Given the description of an element on the screen output the (x, y) to click on. 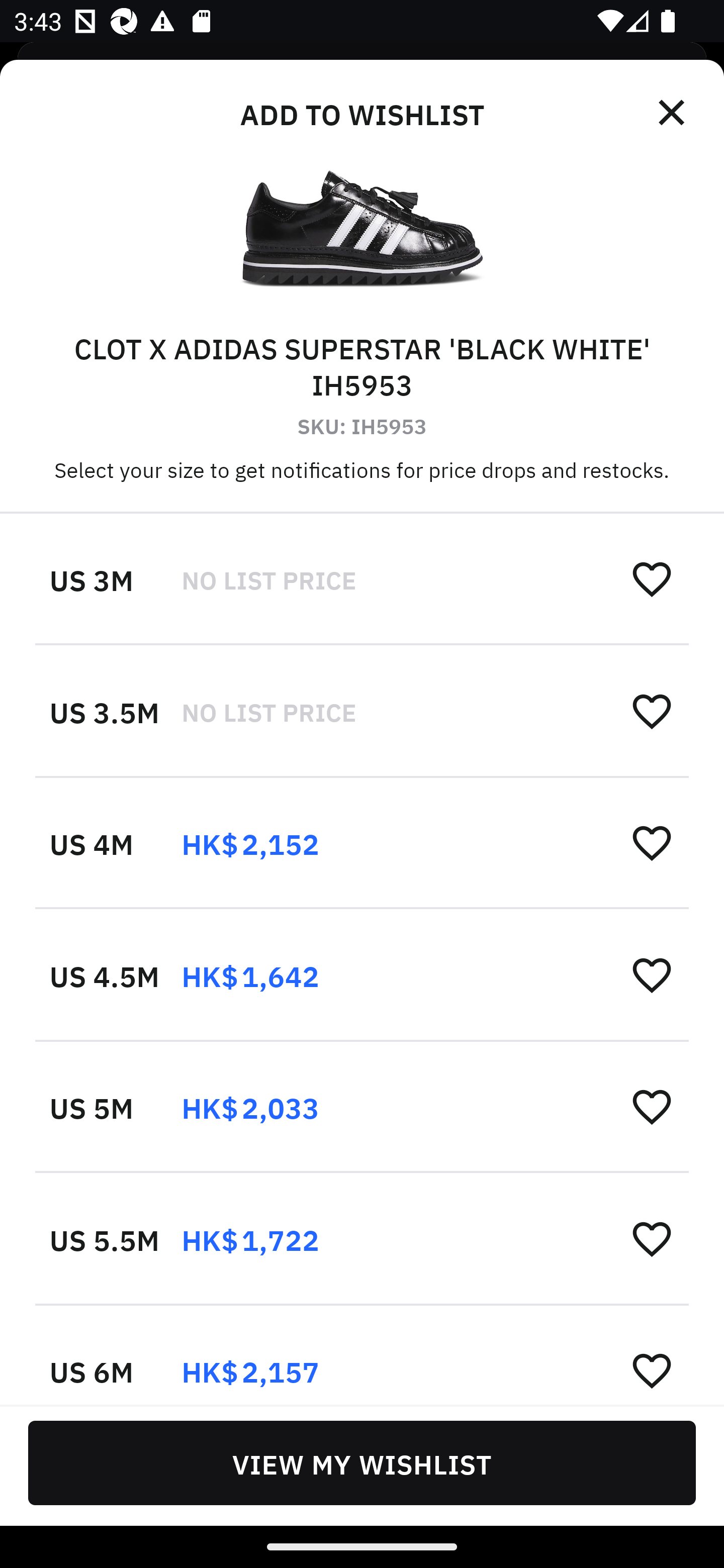
 (672, 112)
󰋕 (651, 578)
󰋕 (651, 710)
󰋕 (651, 842)
󰋕 (651, 974)
󰋕 (651, 1105)
󰋕 (651, 1237)
󰋕 (651, 1369)
VIEW MY WISHLIST (361, 1462)
